Given the description of an element on the screen output the (x, y) to click on. 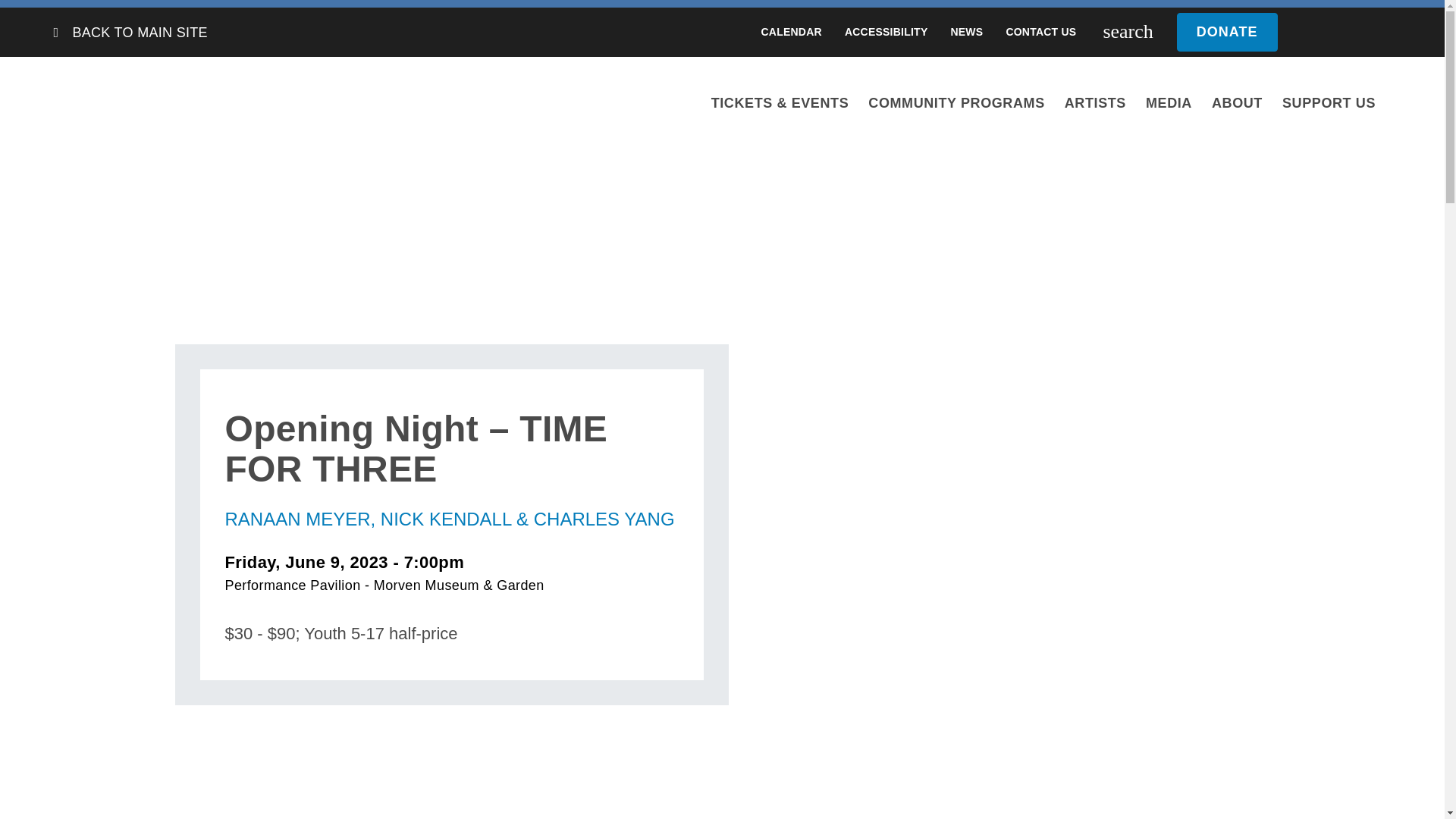
DONATE (1227, 32)
MEDIA (1168, 102)
ABOUT (1237, 102)
BACK TO MAIN SITE (138, 32)
CALENDAR (790, 31)
Toggle Search (1127, 31)
ACCESSIBILITY (885, 31)
CONTACT US (1040, 31)
ARTISTS (1094, 102)
SUPPORT US (1329, 102)
COMMUNITY PROGRAMS (956, 102)
NEWS (966, 31)
DONATE (1326, 32)
